Given the description of an element on the screen output the (x, y) to click on. 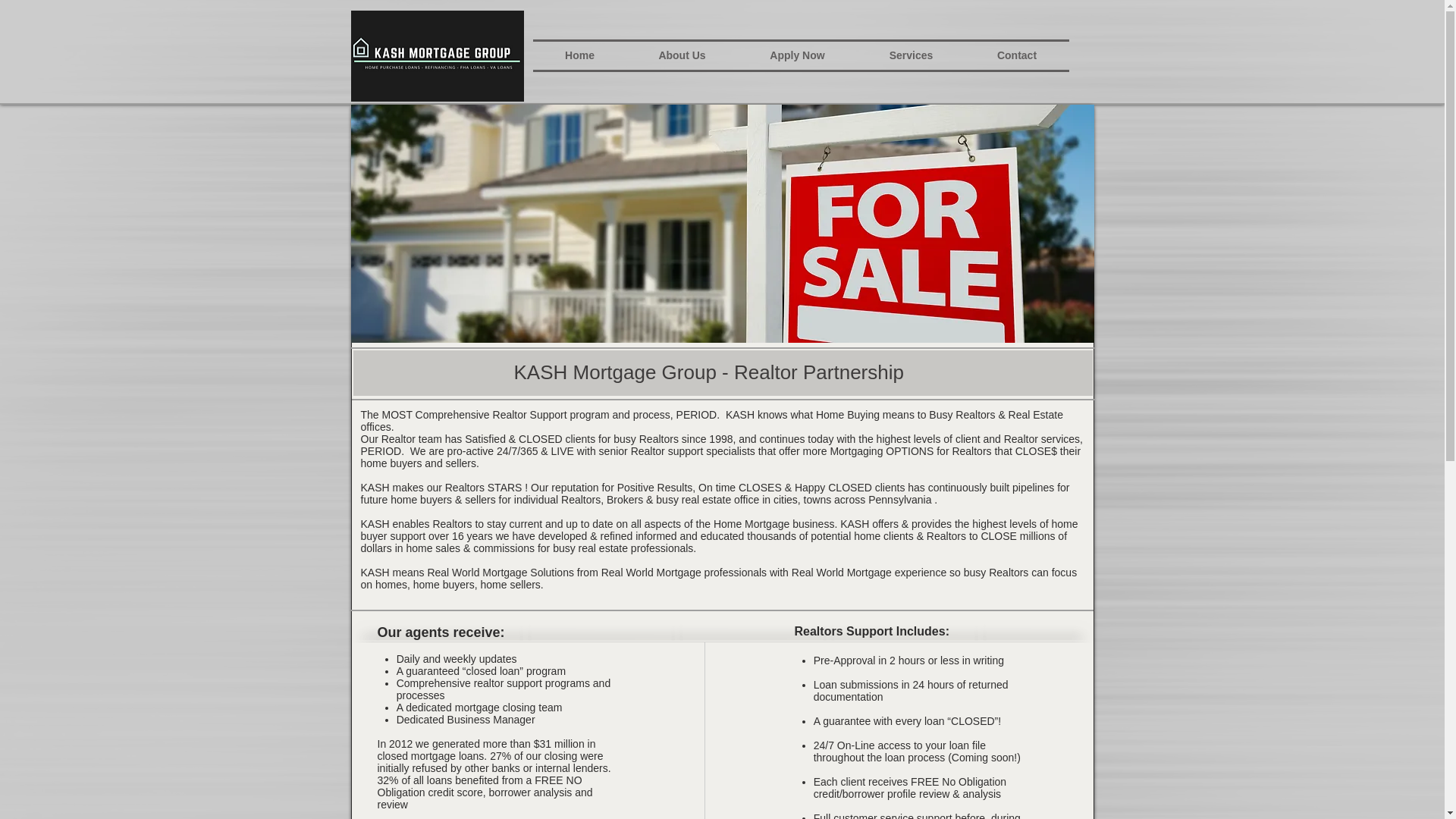
Services (910, 55)
Home (579, 55)
Contact (1015, 55)
Apply Now (796, 55)
About Us (681, 55)
